Given the description of an element on the screen output the (x, y) to click on. 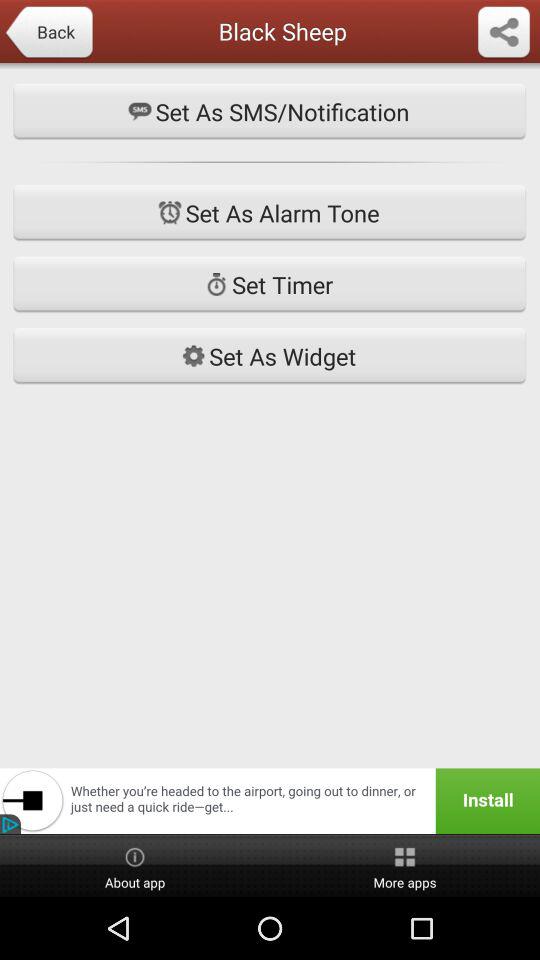
install the application (270, 801)
